Given the description of an element on the screen output the (x, y) to click on. 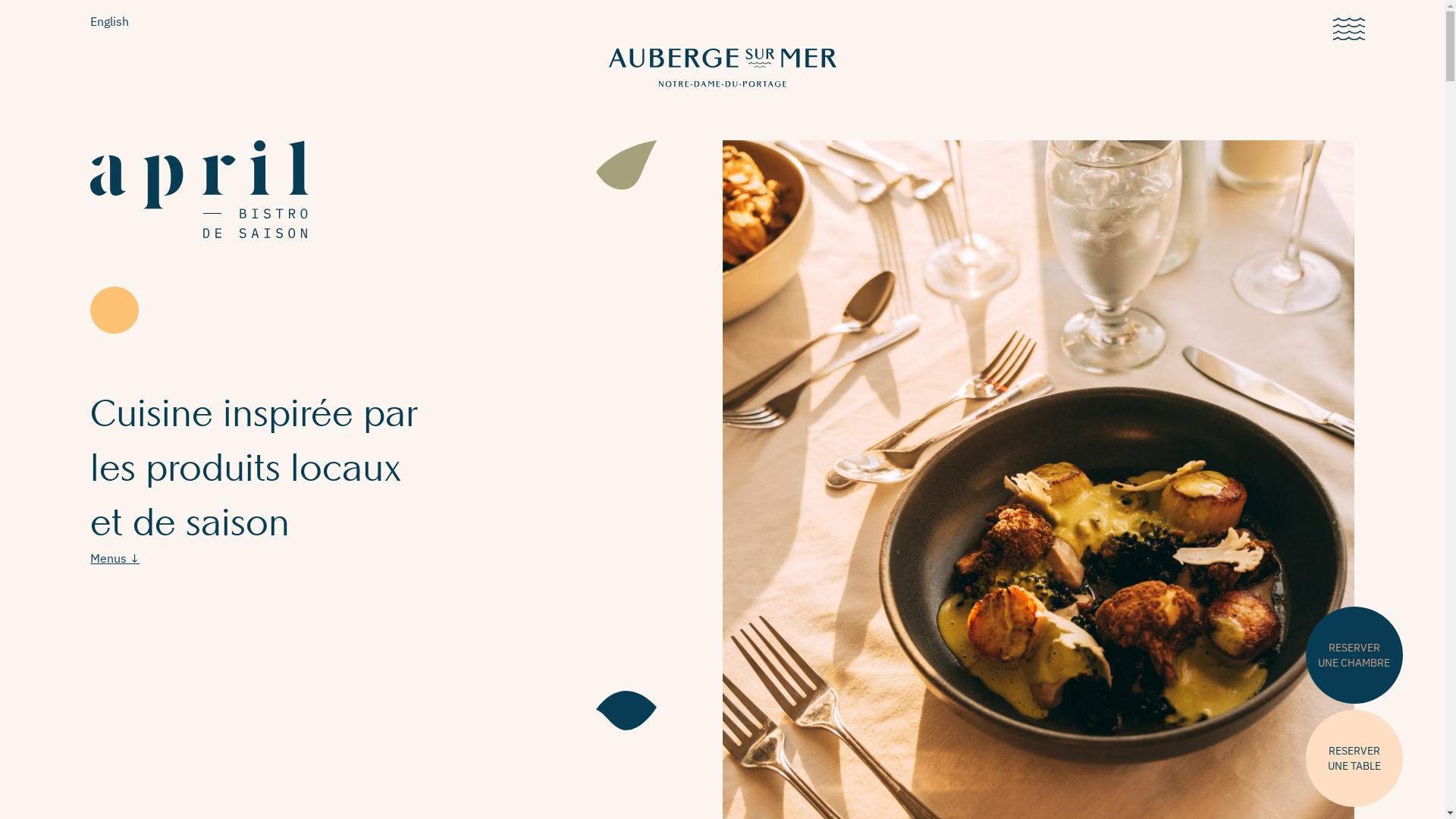
English Element type: text (109, 20)
RESERVER UNE CHAMBRE Element type: text (1353, 654)
RESERVER UNE TABLE Element type: text (1353, 757)
